Given the description of an element on the screen output the (x, y) to click on. 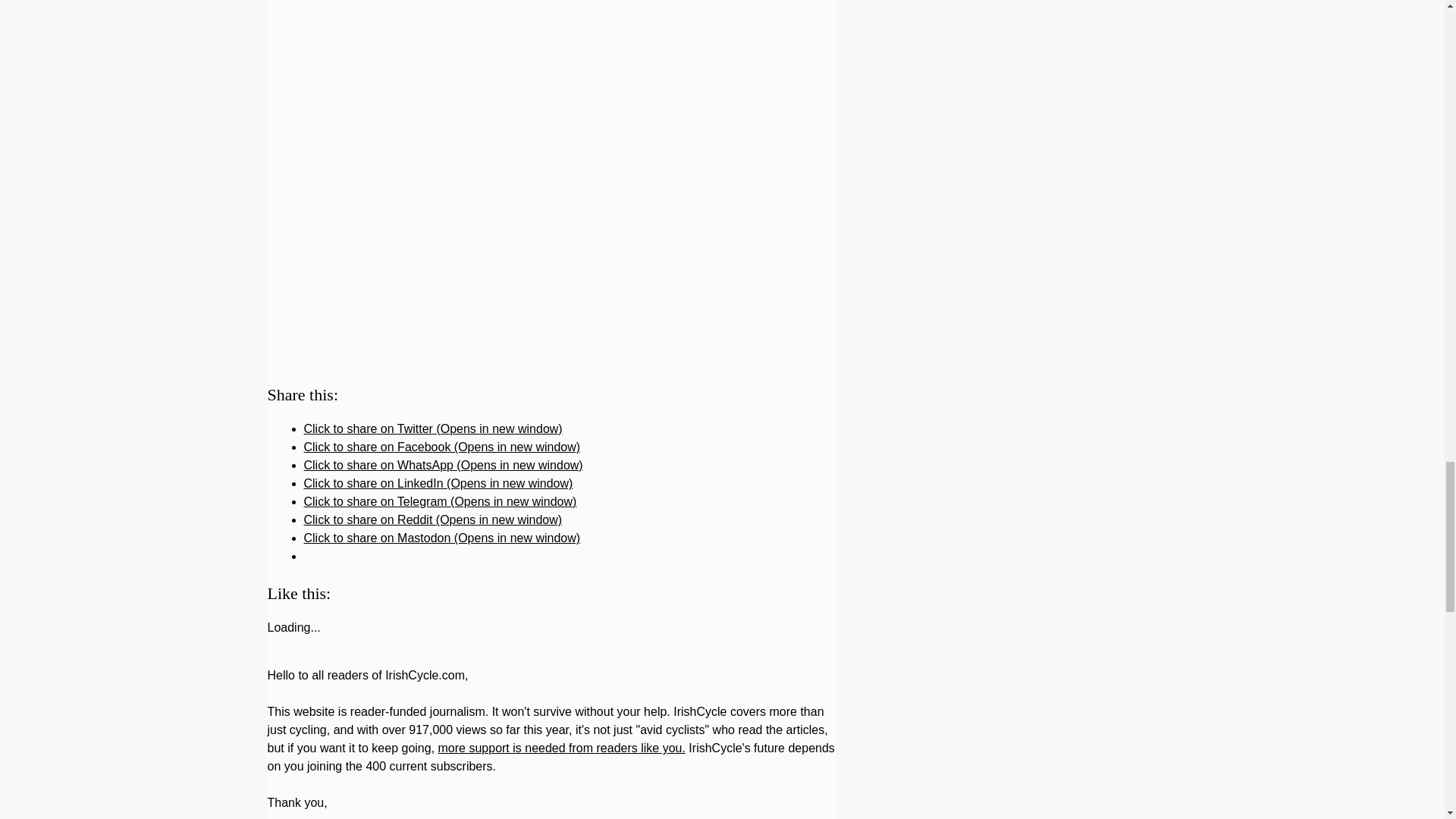
Click to share on Reddit (432, 519)
Click to share on Facebook (440, 446)
Click to share on WhatsApp (442, 464)
Click to share on Telegram (439, 501)
Click to share on LinkedIn (437, 482)
Click to share on Mastodon (440, 537)
Click to share on Twitter (432, 428)
